Given the description of an element on the screen output the (x, y) to click on. 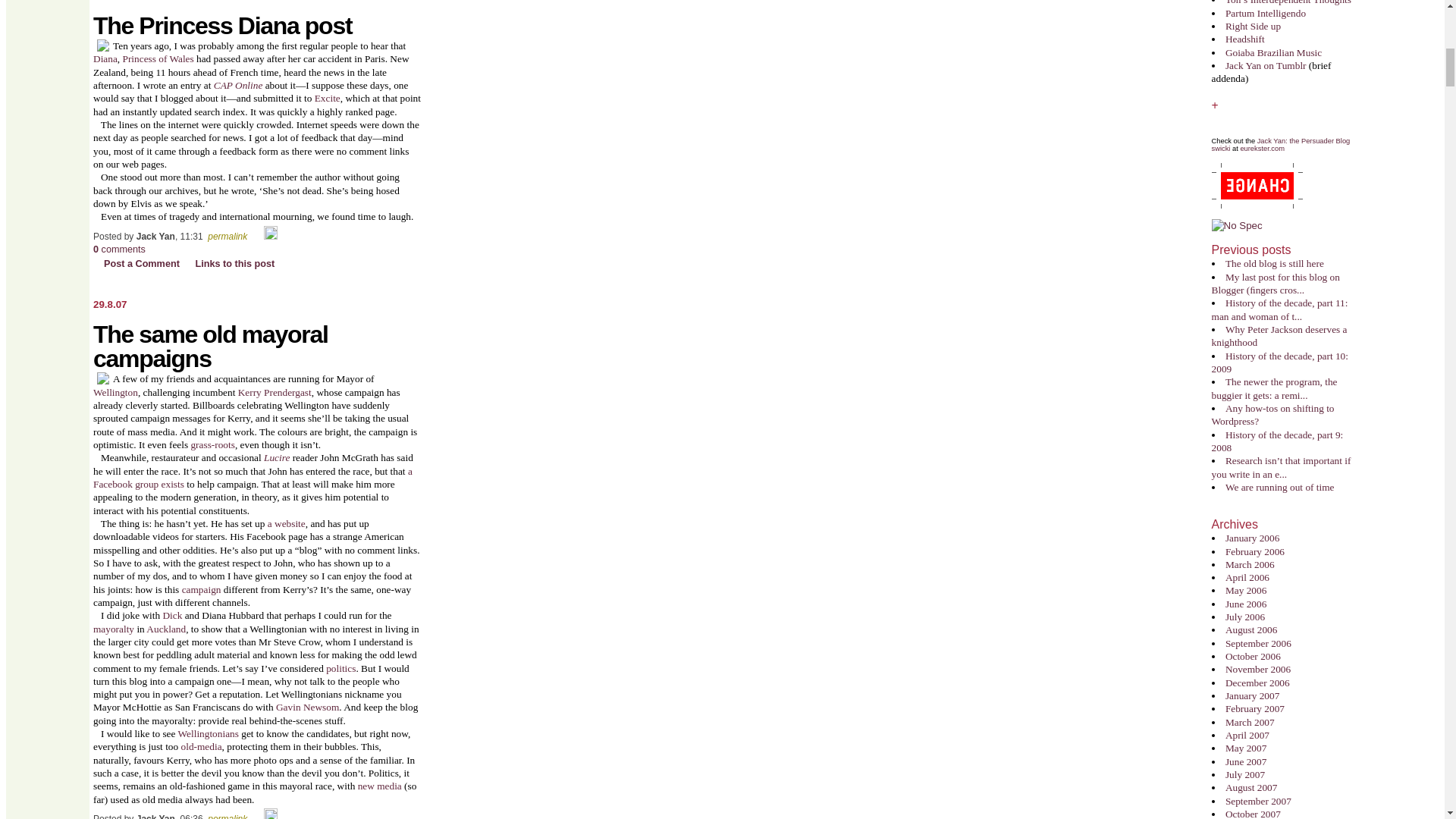
Edit Post (270, 816)
The Princess Diana post (222, 25)
Edit Post (270, 235)
Email Post (256, 816)
Email Post (256, 235)
